Given the description of an element on the screen output the (x, y) to click on. 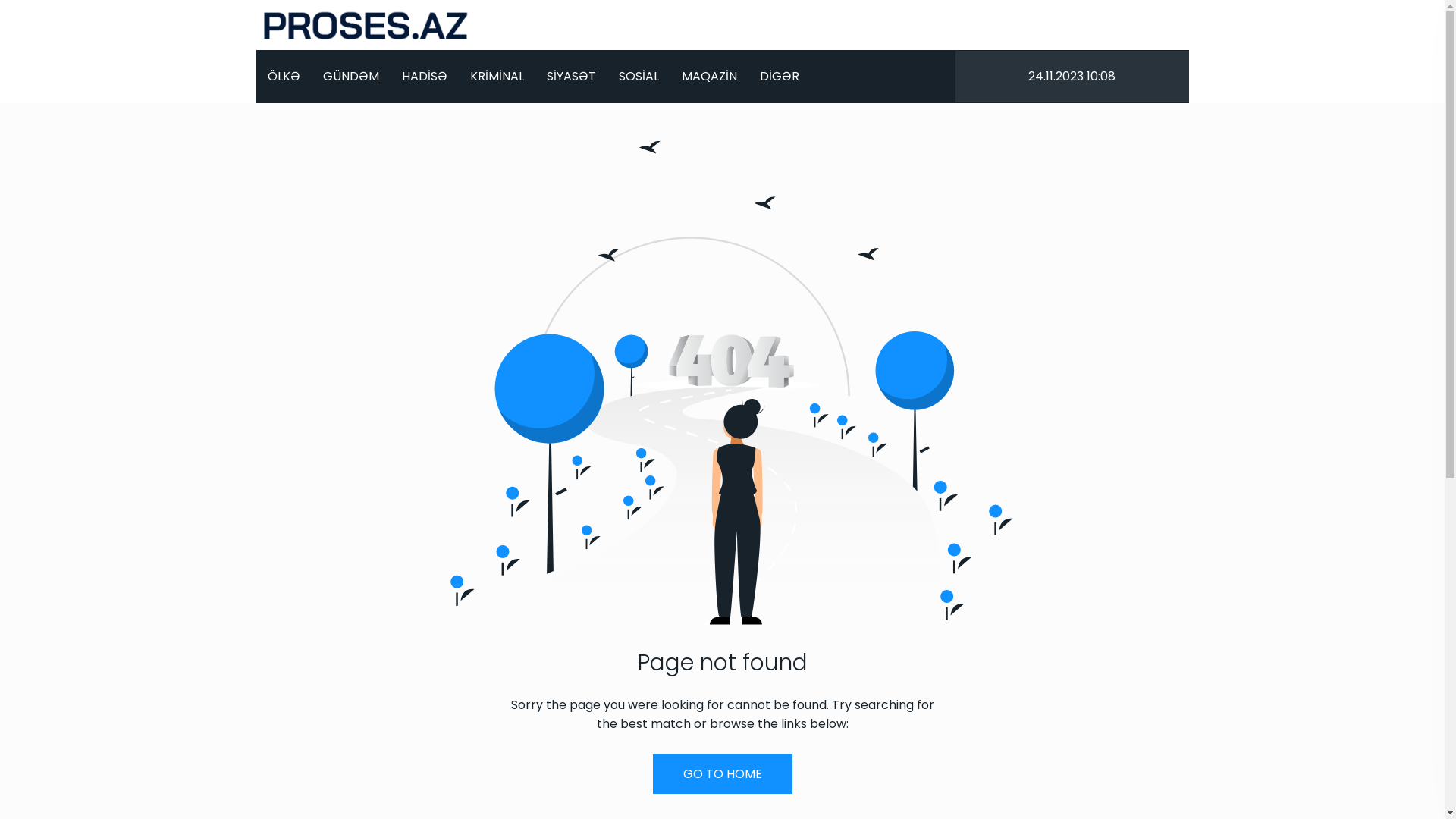
GO TO HOME Element type: text (721, 773)
